Given the description of an element on the screen output the (x, y) to click on. 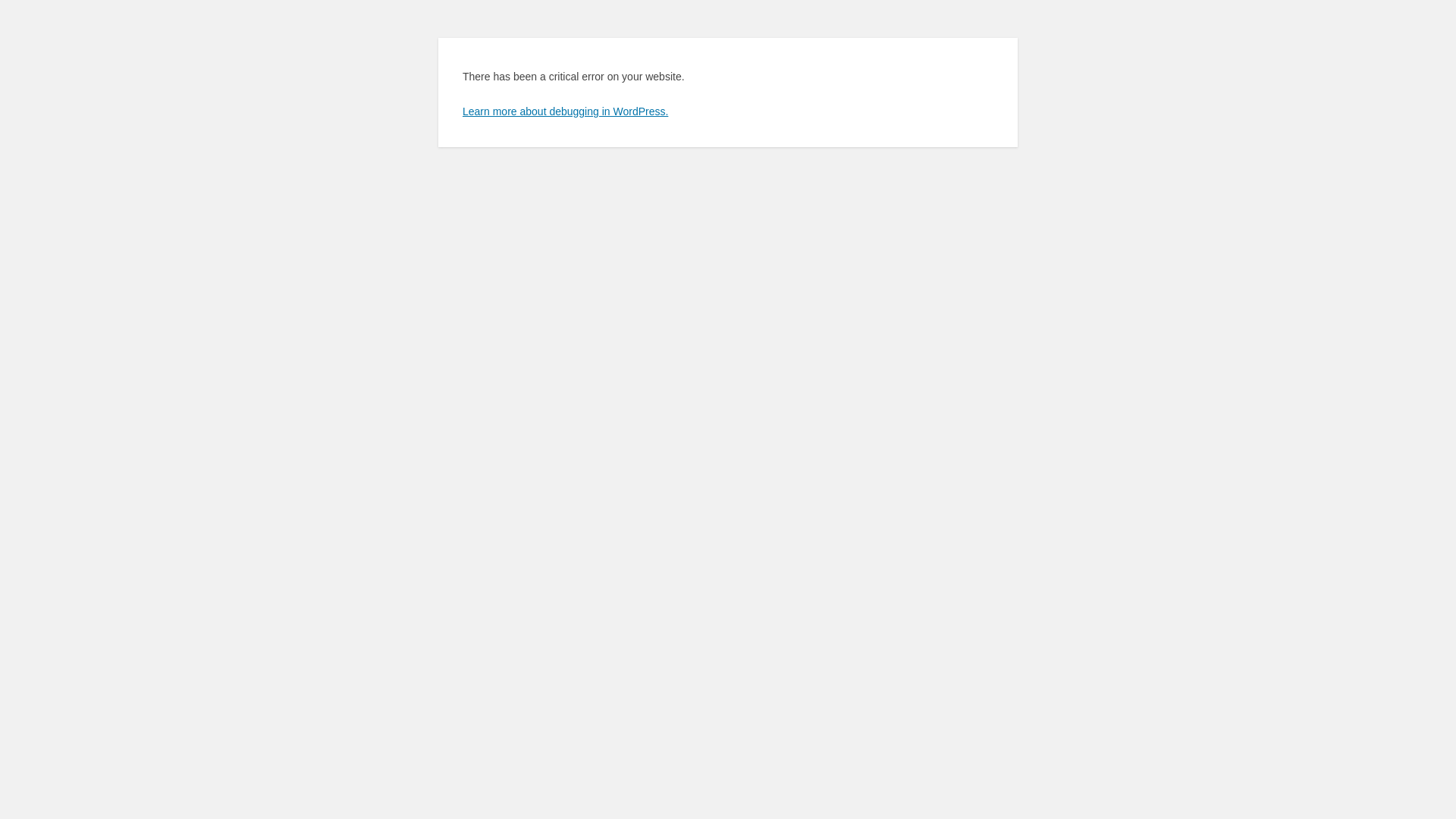
Learn more about debugging in WordPress. Element type: text (565, 111)
